Given the description of an element on the screen output the (x, y) to click on. 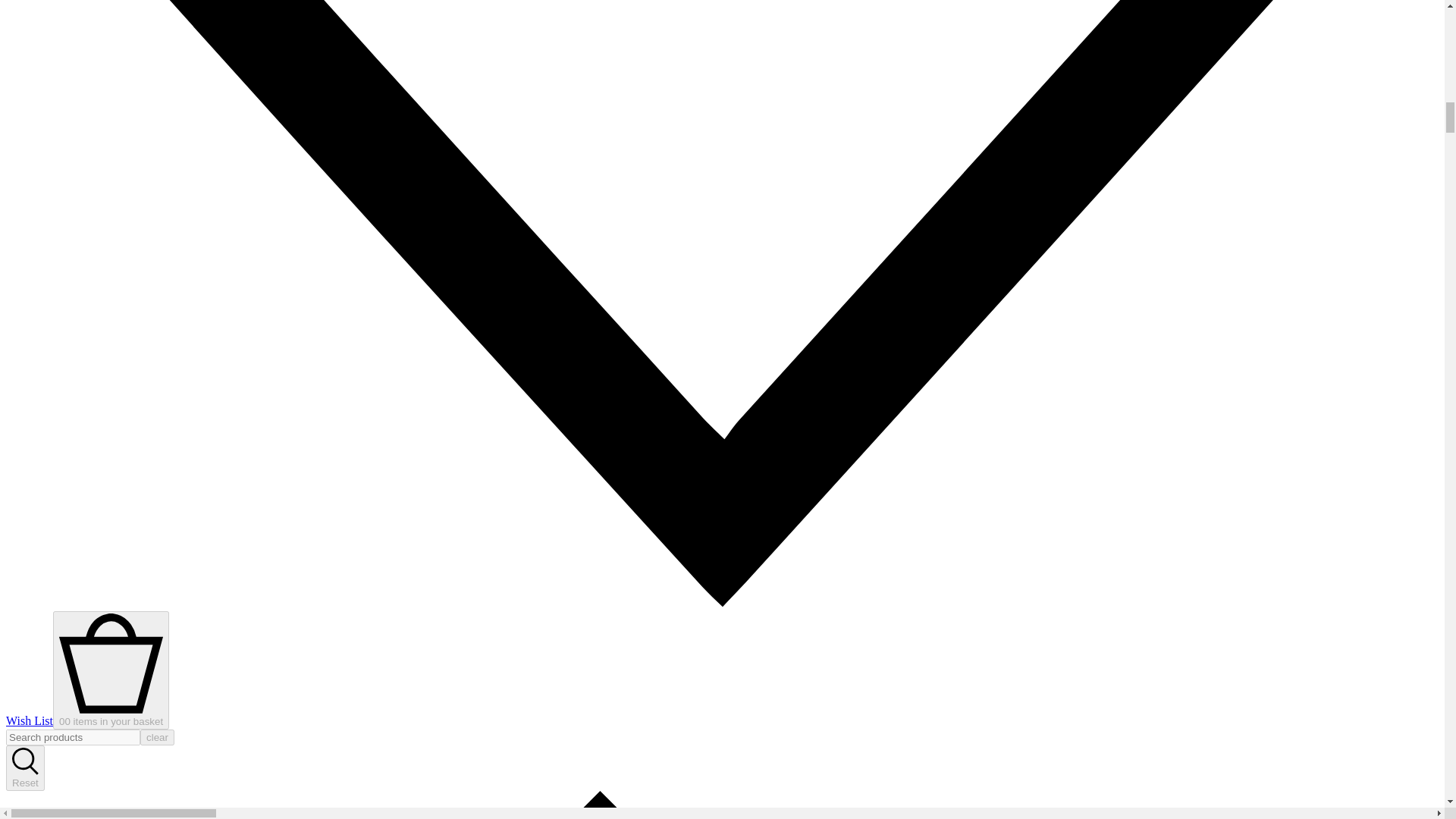
0 items in your basket (110, 669)
Jackets (721, 805)
Search (25, 771)
clear (156, 737)
BagFilled (111, 715)
